Given the description of an element on the screen output the (x, y) to click on. 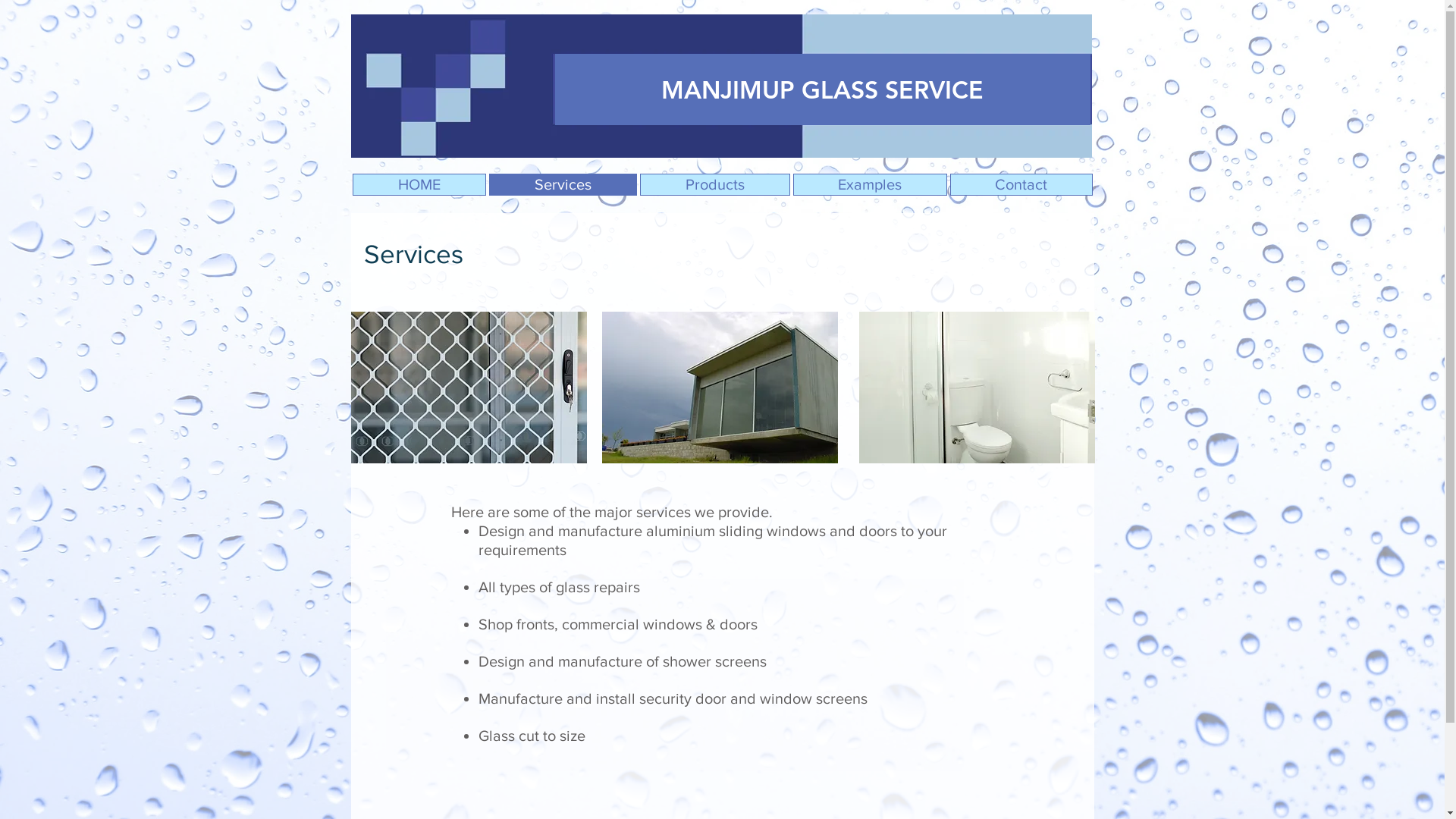
Services Element type: text (562, 184)
Products Element type: text (715, 184)
HOME Element type: text (418, 184)
Contact Element type: text (1020, 184)
Examples Element type: text (870, 184)
